Given the description of an element on the screen output the (x, y) to click on. 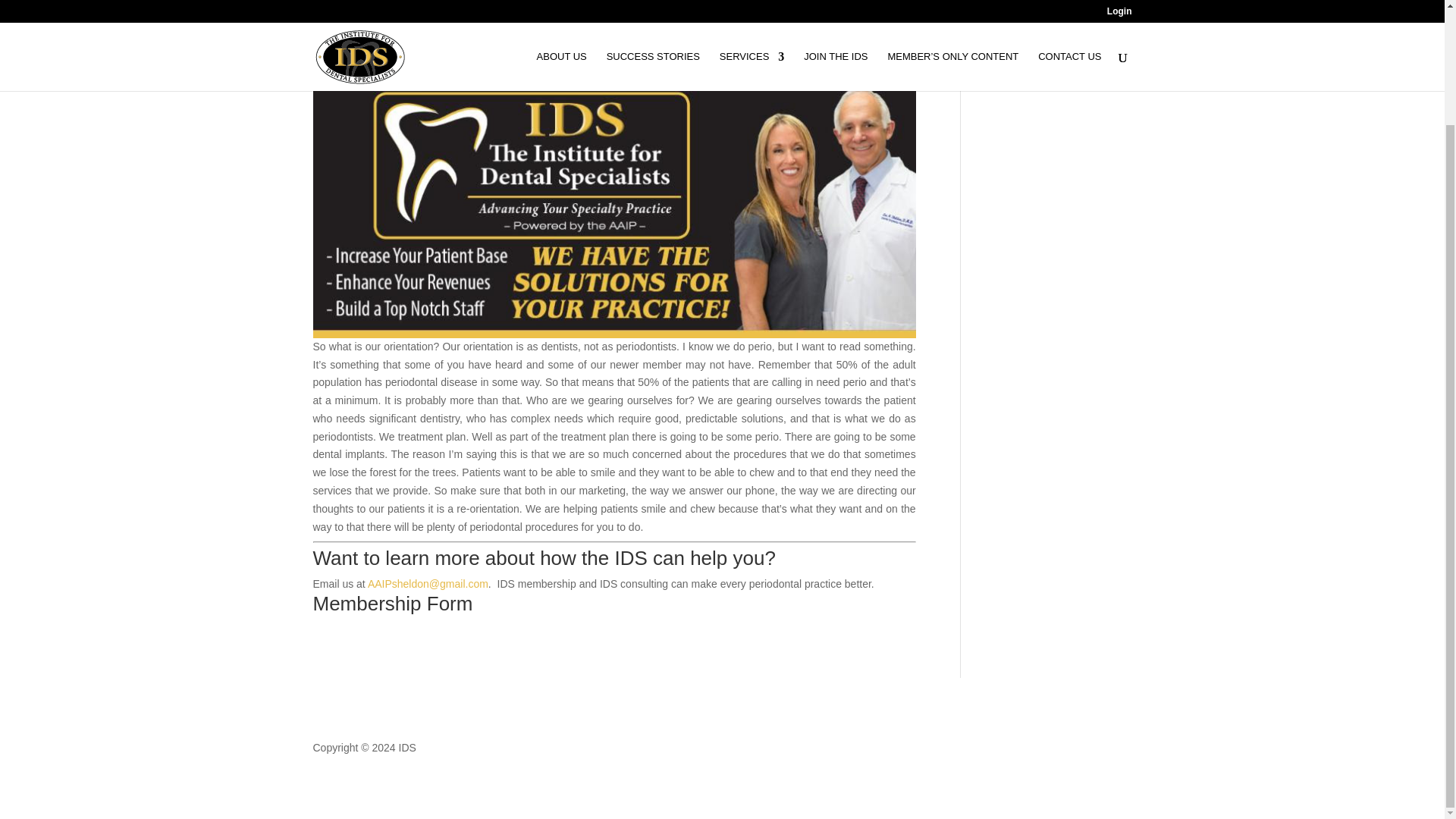
Info Center (496, 30)
MoniqueWebb (360, 30)
Membership Form (392, 603)
Posts by MoniqueWebb (360, 30)
